Given the description of an element on the screen output the (x, y) to click on. 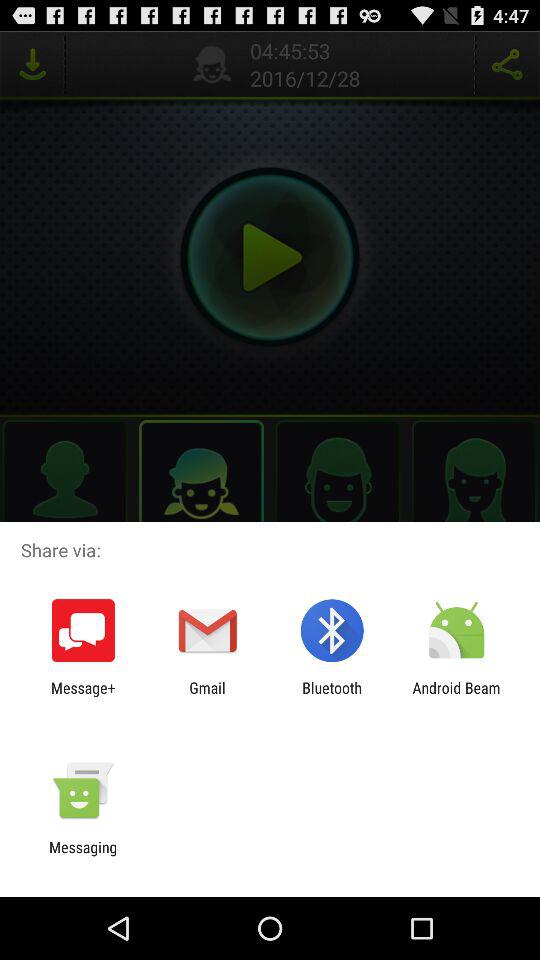
launch app to the right of message+ icon (207, 696)
